Given the description of an element on the screen output the (x, y) to click on. 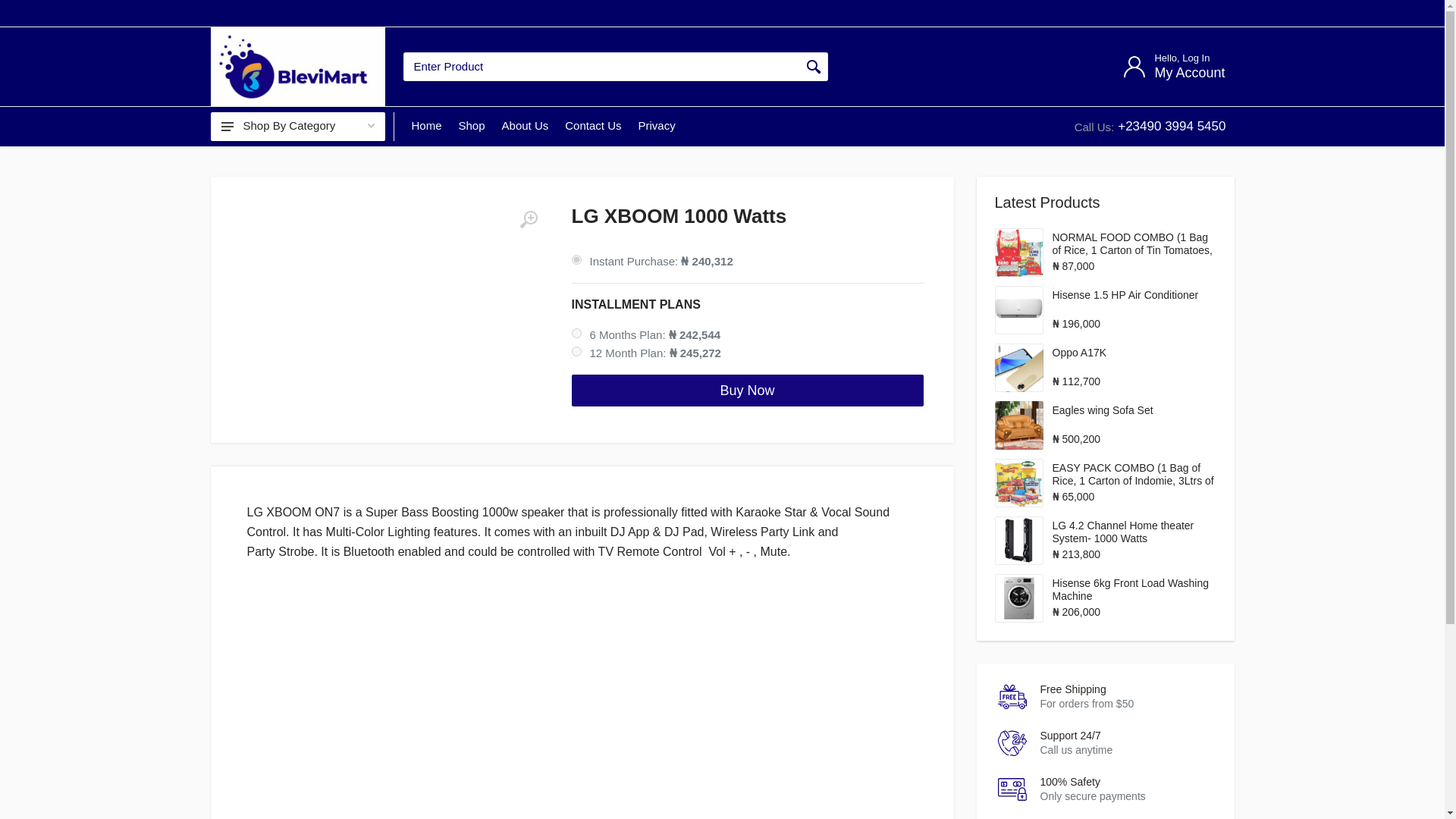
Monthly (576, 351)
Home (426, 126)
Instant (576, 259)
Shop (471, 126)
Buy Now (747, 390)
Privacy (655, 126)
Shop By Category (298, 126)
6-Months (576, 333)
Contact Us (592, 126)
About Us (1173, 65)
